Given the description of an element on the screen output the (x, y) to click on. 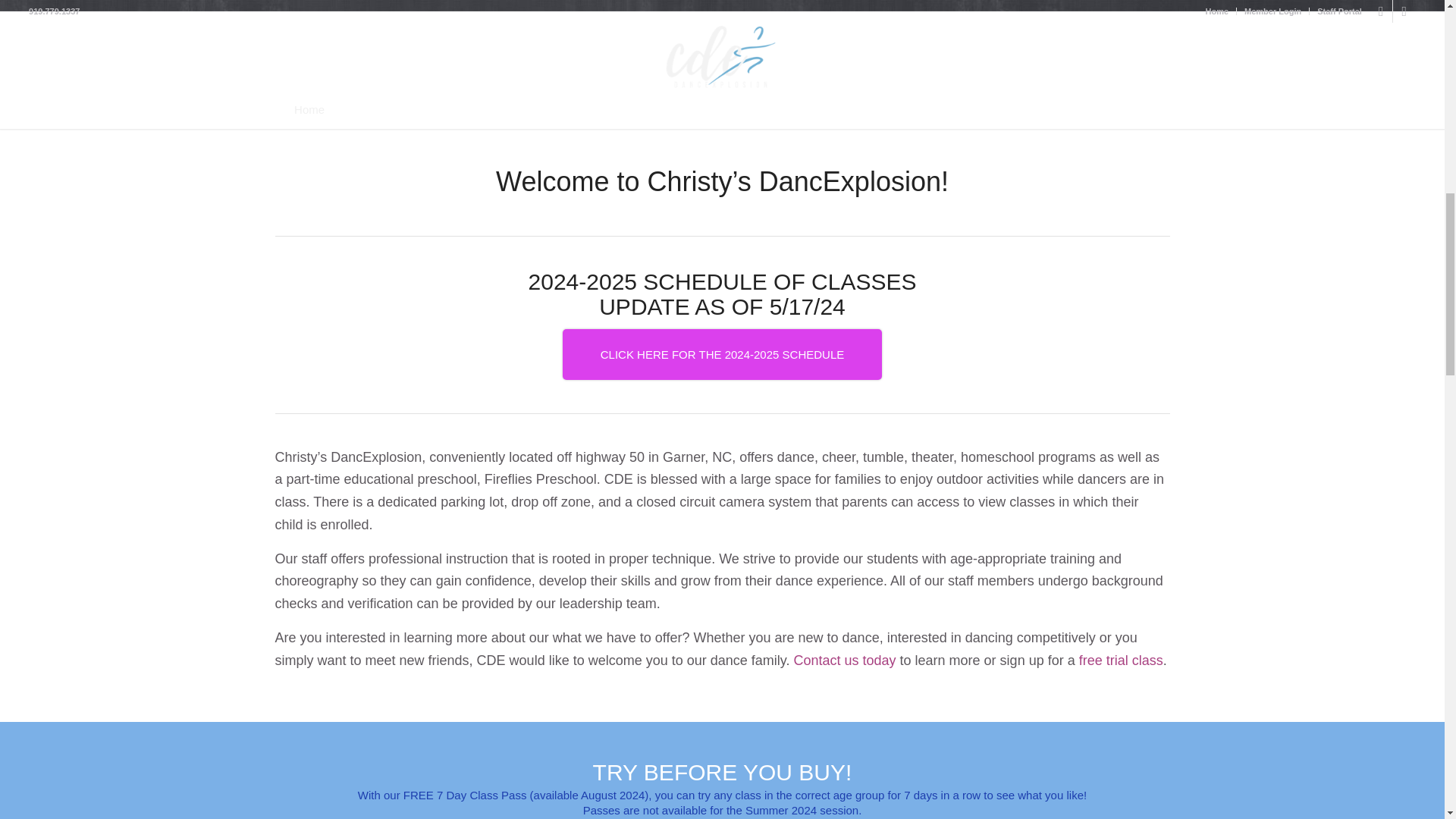
CLICK HERE FOR THE 2024-2025 SCHEDULE (722, 354)
Contact (844, 660)
free trial class (1120, 660)
Contact us today (844, 660)
